Given the description of an element on the screen output the (x, y) to click on. 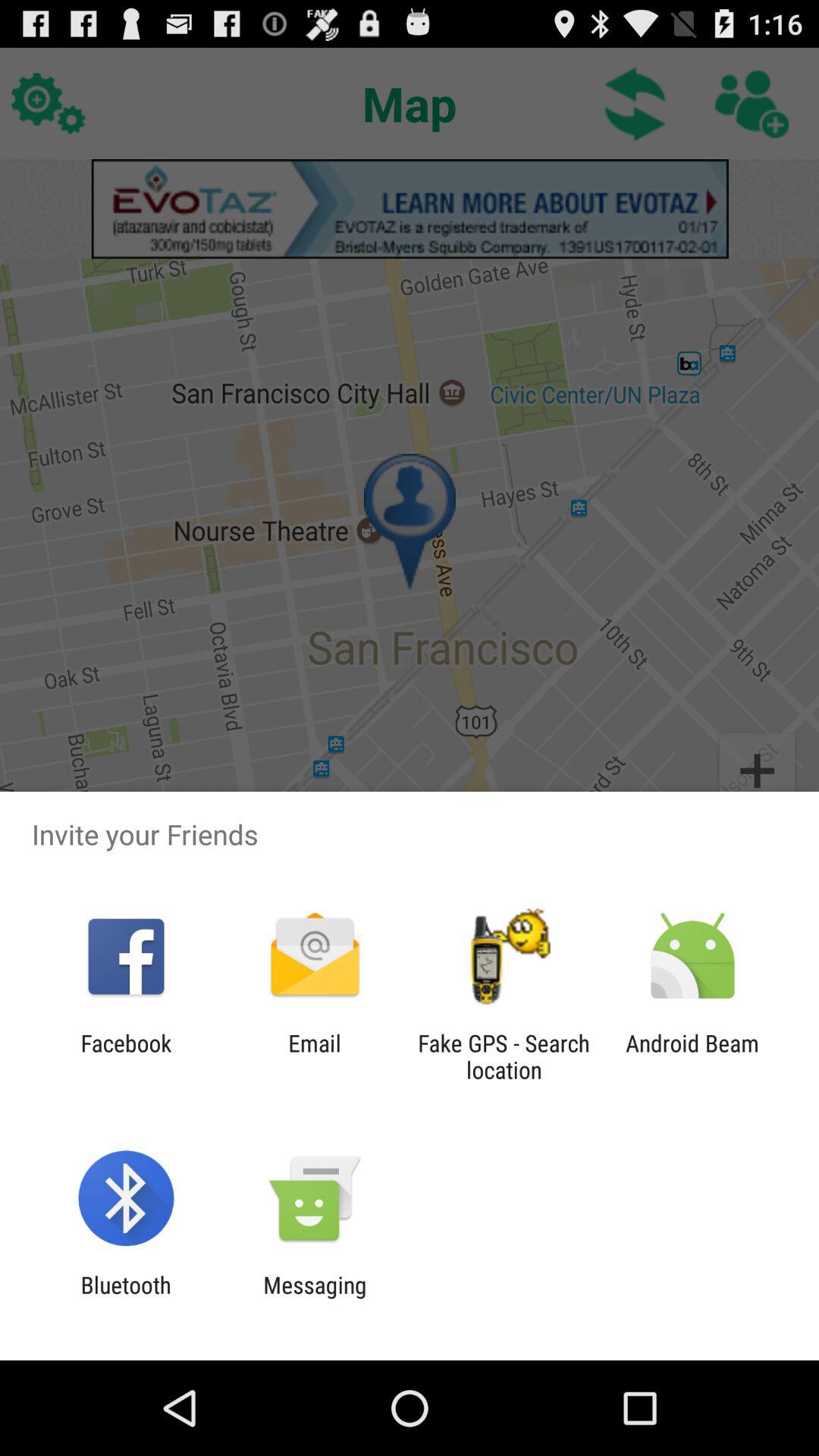
turn off item next to the email item (503, 1056)
